Given the description of an element on the screen output the (x, y) to click on. 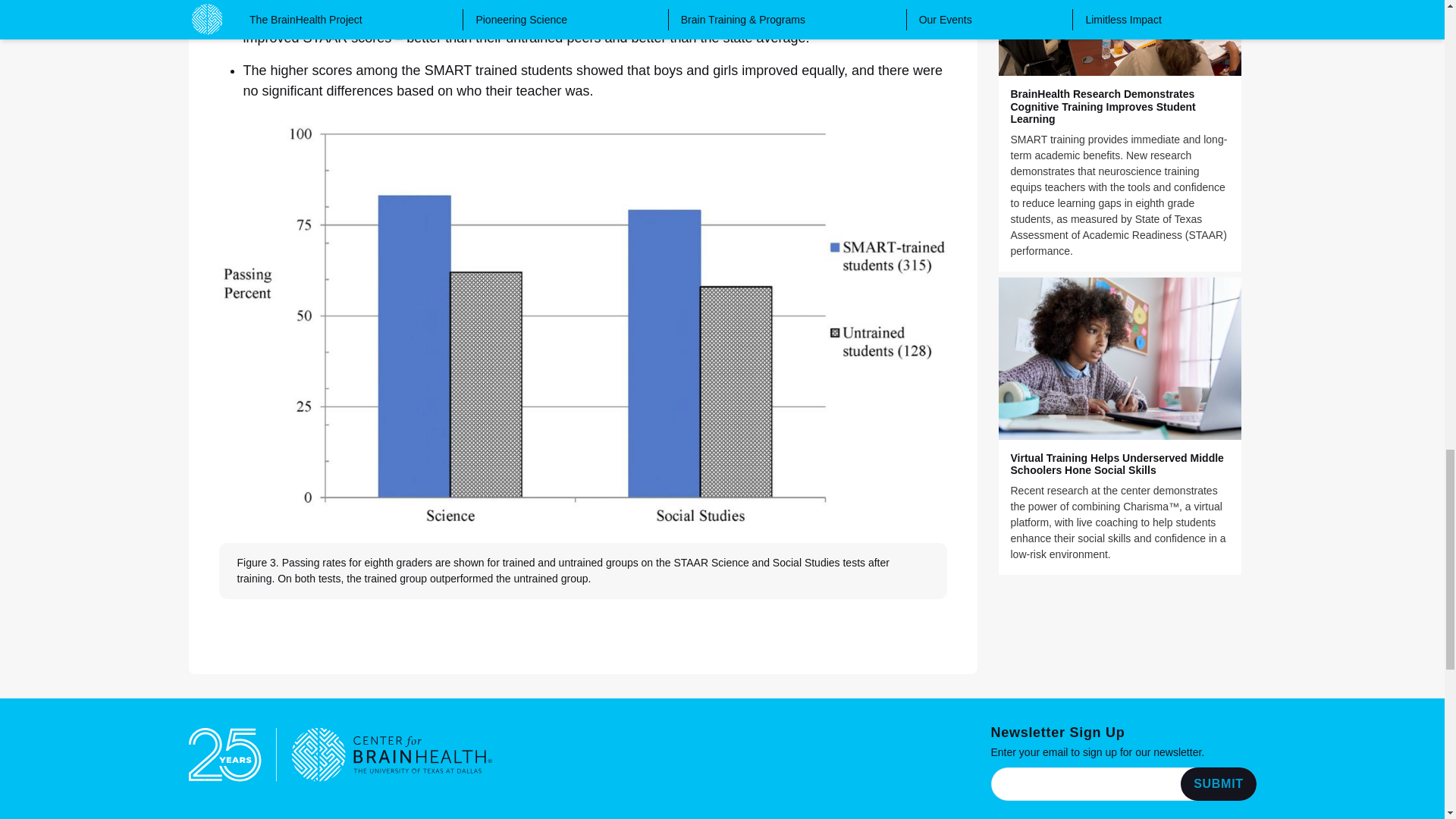
iframe (1122, 783)
